Given the description of an element on the screen output the (x, y) to click on. 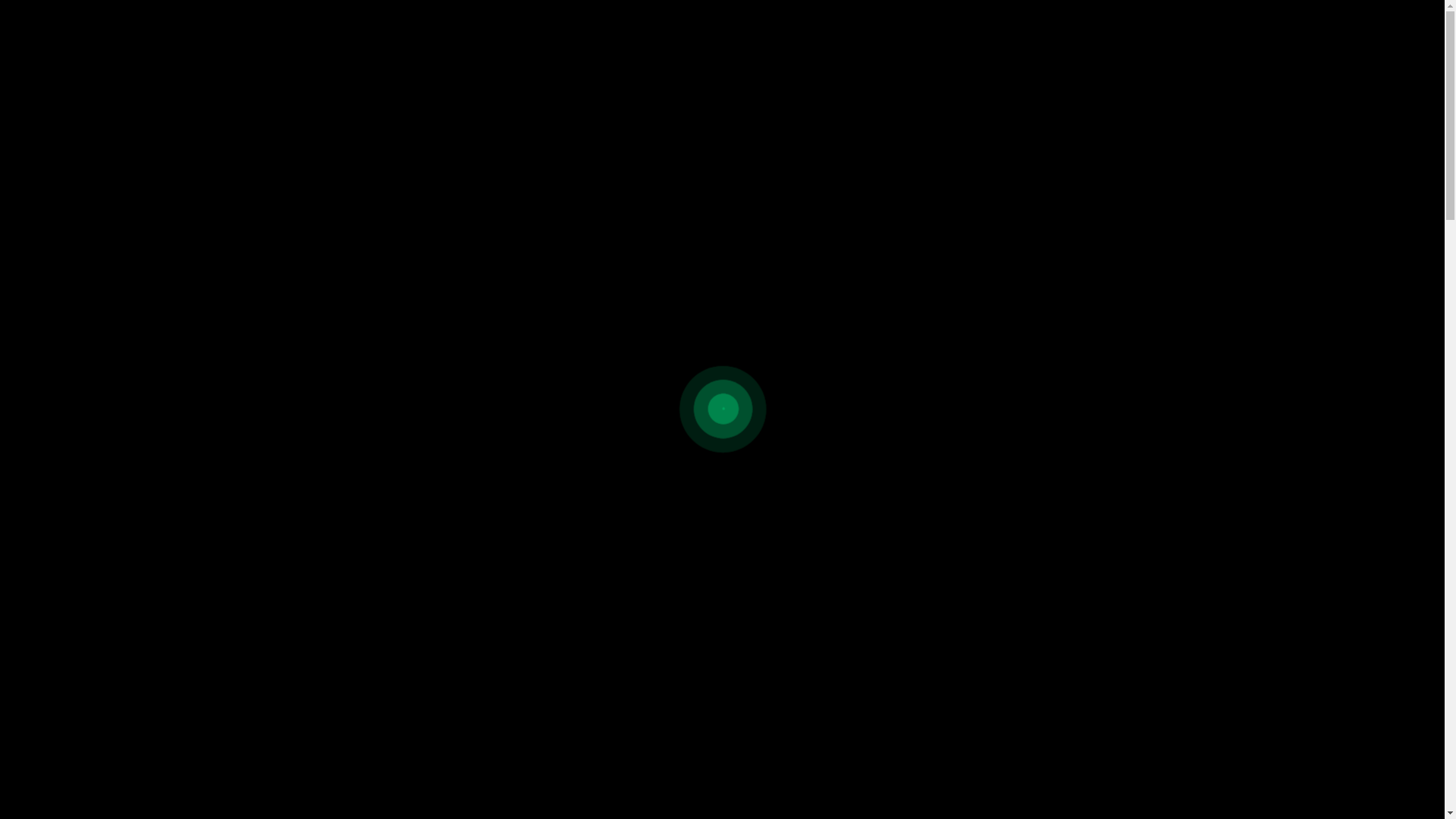
Pretraga Element type: text (845, 438)
Bosnian Element type: hover (1303, 36)
